Given the description of an element on the screen output the (x, y) to click on. 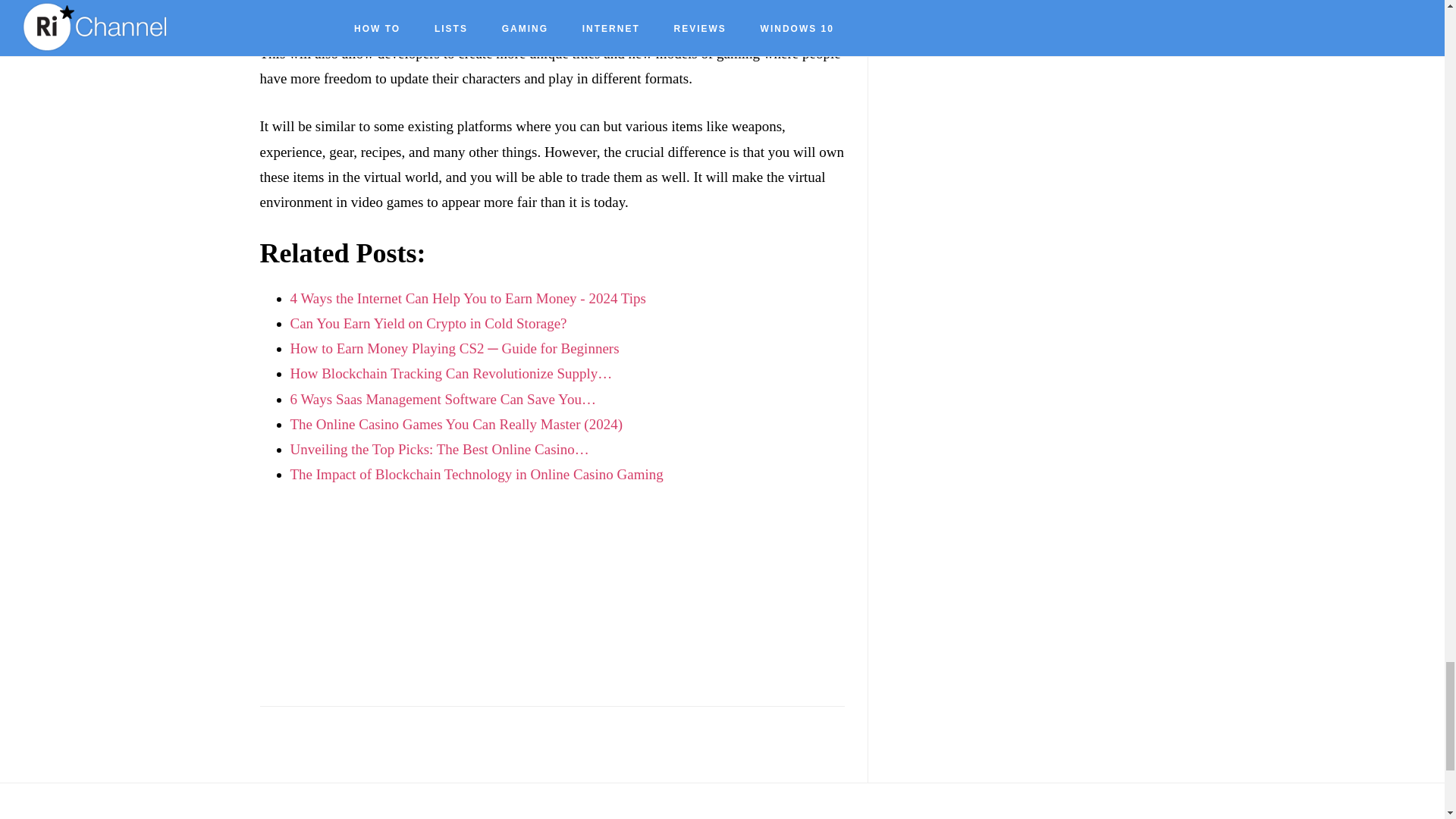
4 Ways the Internet Can Help You to Earn Money - 2024 Tips (467, 298)
Can You Earn Yield on Crypto in Cold Storage? (427, 323)
The Impact of Blockchain Technology in Online Casino Gaming (475, 474)
